Given the description of an element on the screen output the (x, y) to click on. 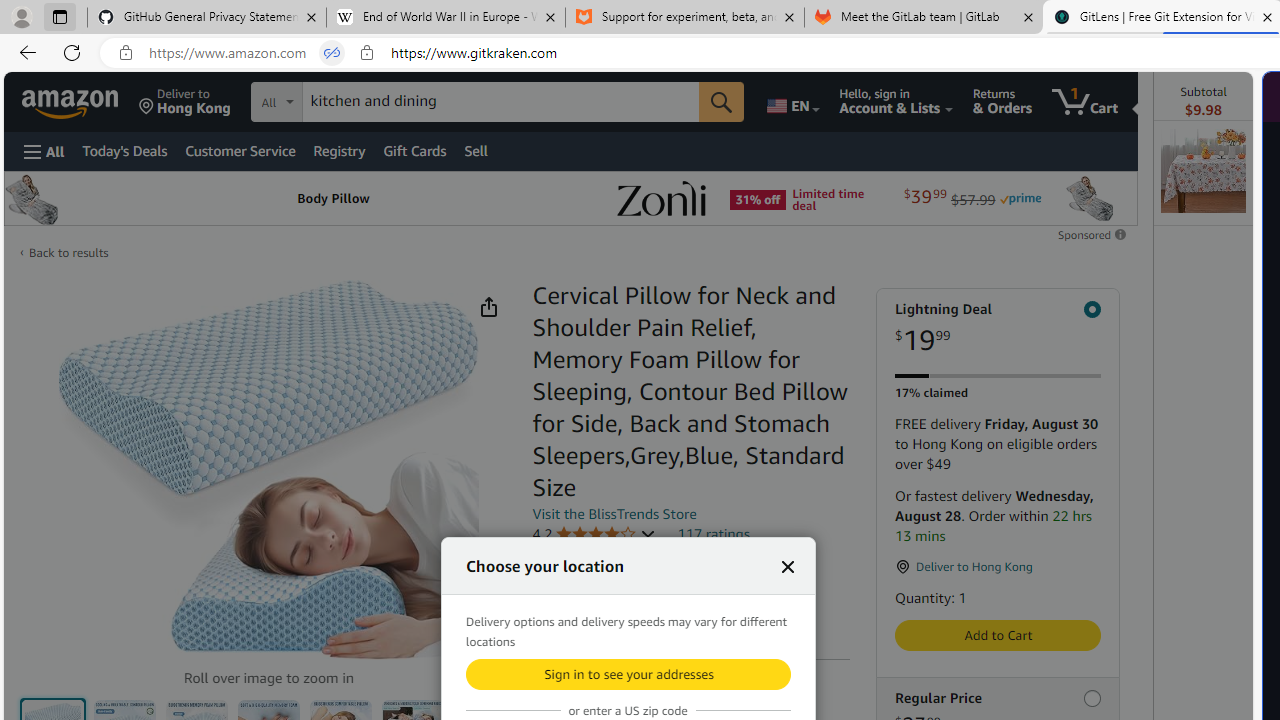
Tabs in split screen (331, 53)
Back to results (68, 251)
117 ratings (713, 533)
Sponsored ad (570, 198)
Visit the BlissTrends Store (614, 513)
1 item in cart (1084, 101)
Choose a language for shopping. (792, 101)
Lightning Deal $19.99 (997, 327)
4.2 4.2 out of 5 stars (593, 534)
Hello, sign in Account & Lists (895, 101)
Meet the GitLab team | GitLab (924, 17)
